Given the description of an element on the screen output the (x, y) to click on. 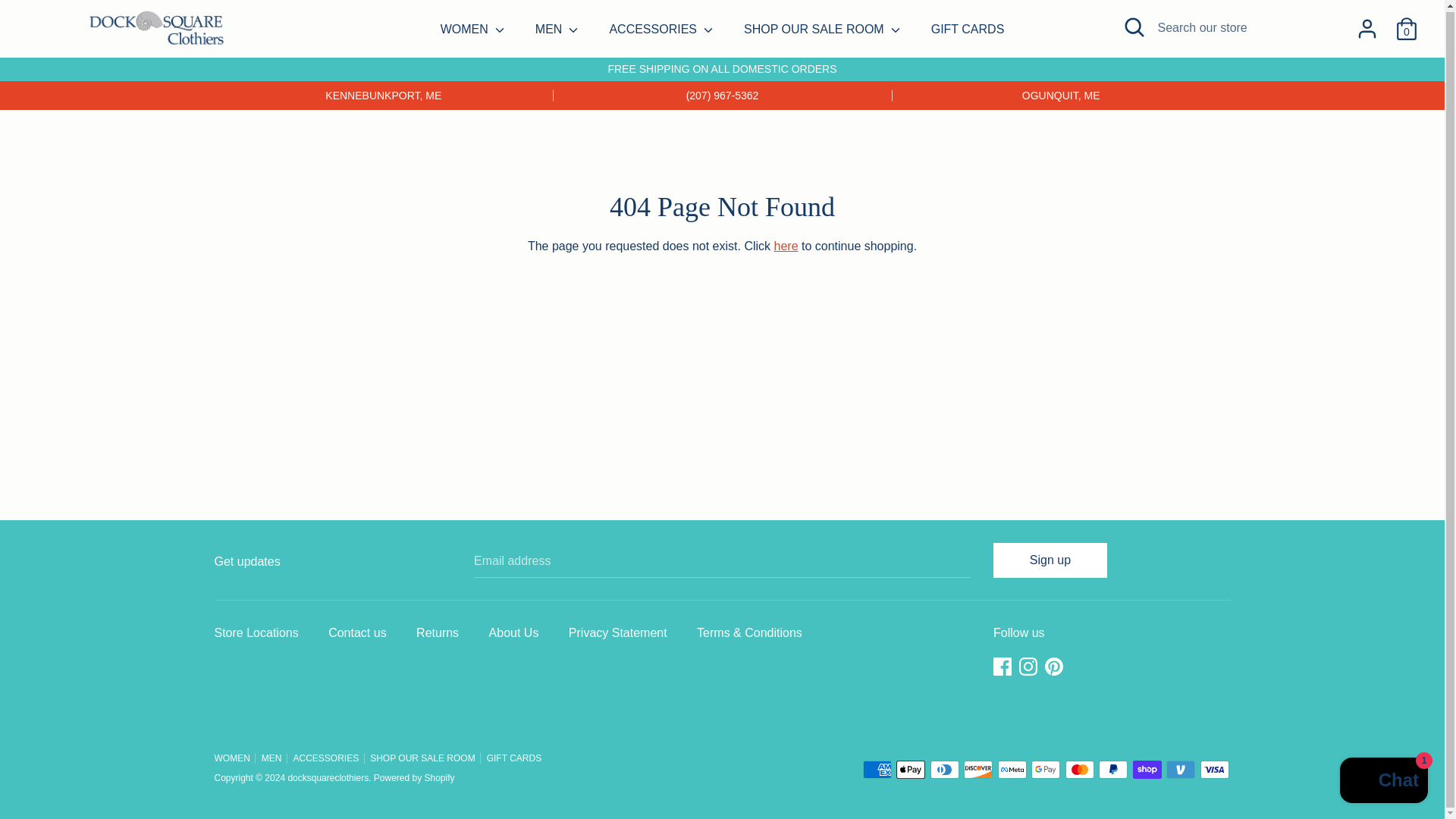
Discover (977, 769)
Shop Pay (1146, 769)
Diners Club (944, 769)
Meta Pay (1011, 769)
Apple Pay (910, 769)
Mastercard (1079, 769)
Instagram (1030, 666)
American Express (877, 769)
Pinterest (1055, 666)
Venmo (1180, 769)
PayPal (1112, 769)
Google Pay (1044, 769)
Shopify online store chat (1383, 780)
Facebook (1003, 666)
